Given the description of an element on the screen output the (x, y) to click on. 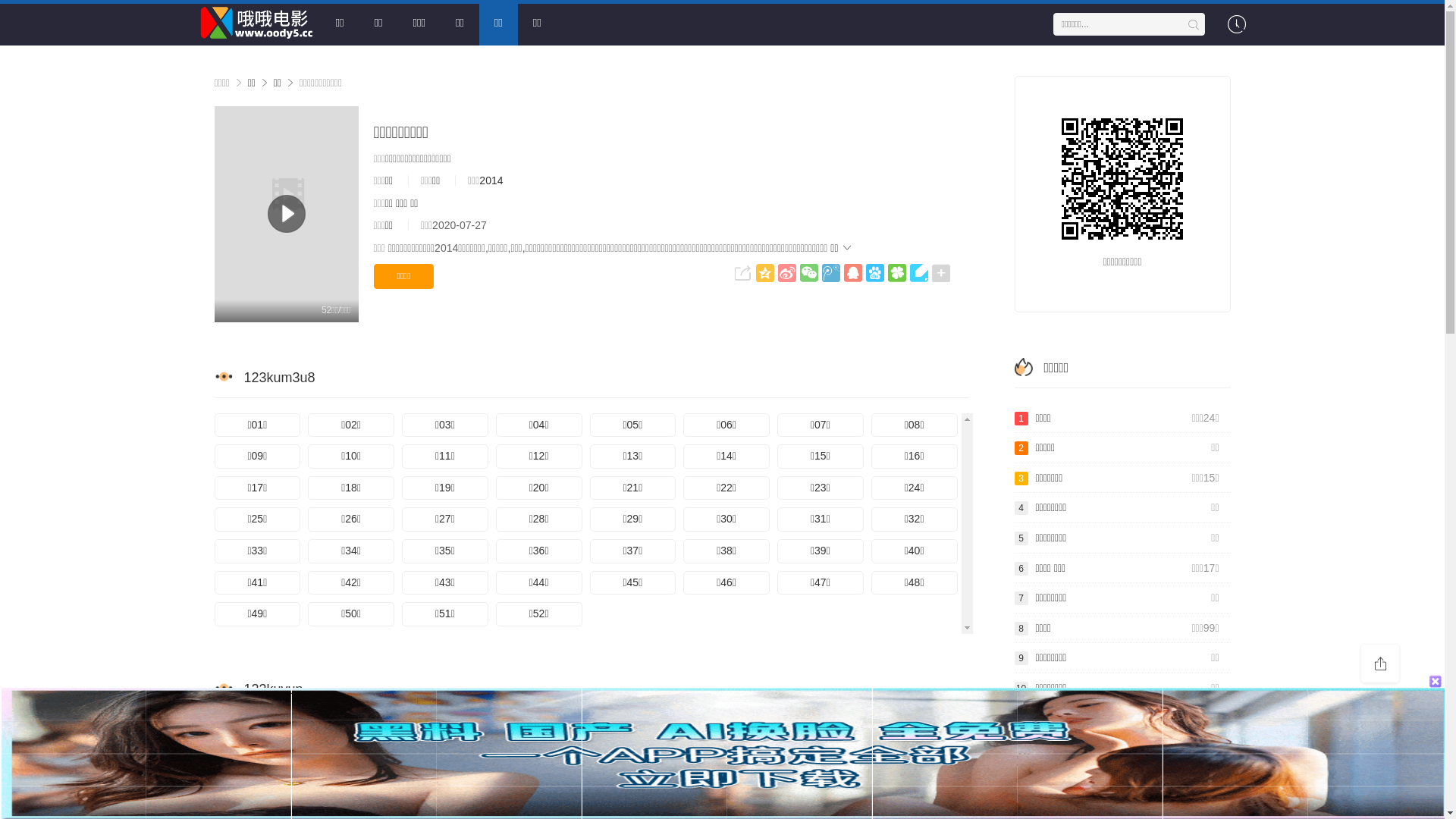
2014 Element type: text (490, 180)
